Given the description of an element on the screen output the (x, y) to click on. 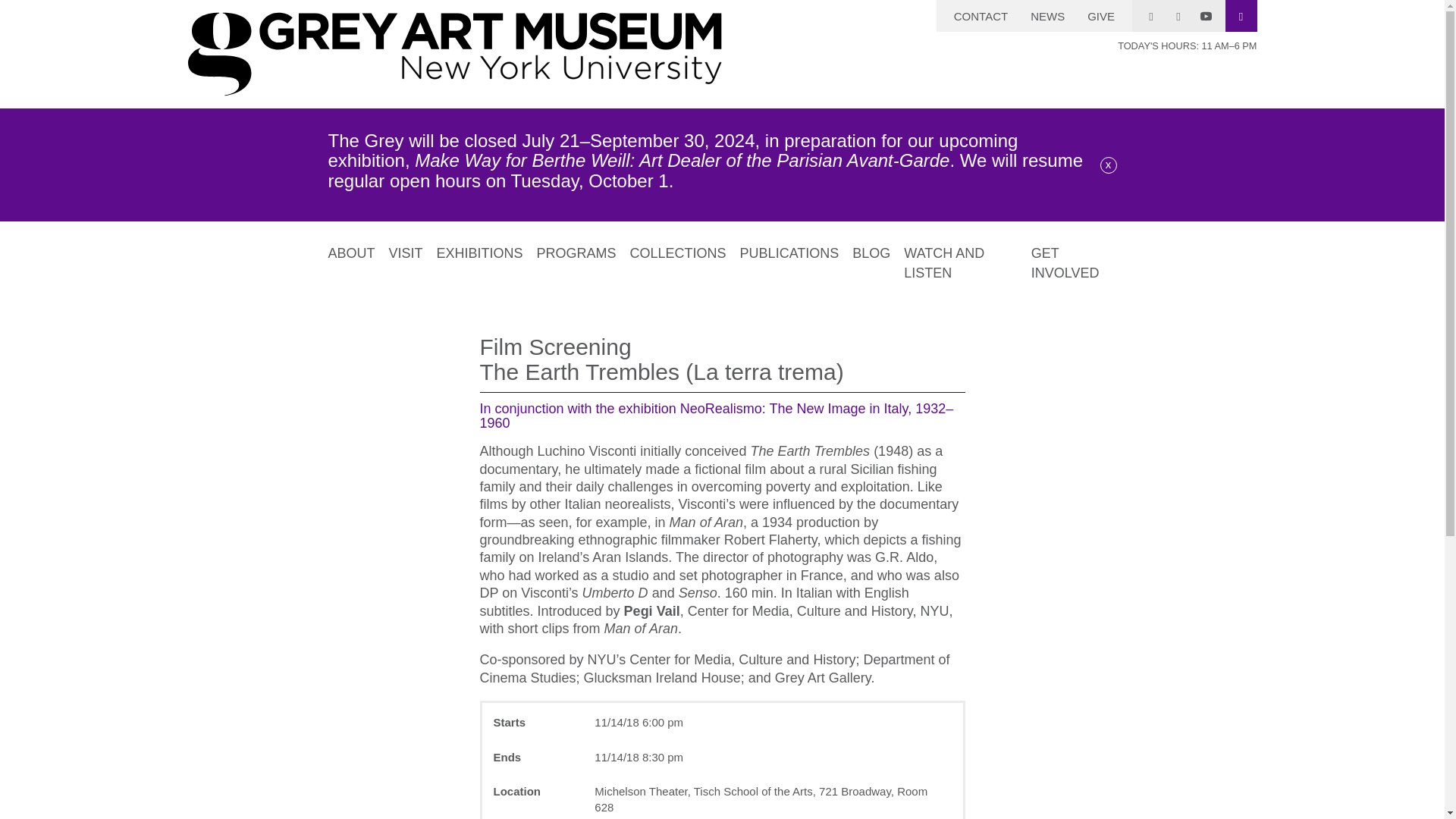
Grey Art Museum - Grey Art Museum (454, 54)
See Grey Art Museum on Youtube (1206, 16)
See Grey Art Museum on Facebook (1178, 15)
CONTACT (980, 15)
See Grey Art Museum on Instagram (1150, 15)
NEWS (1047, 15)
GIVE (1100, 15)
